Given the description of an element on the screen output the (x, y) to click on. 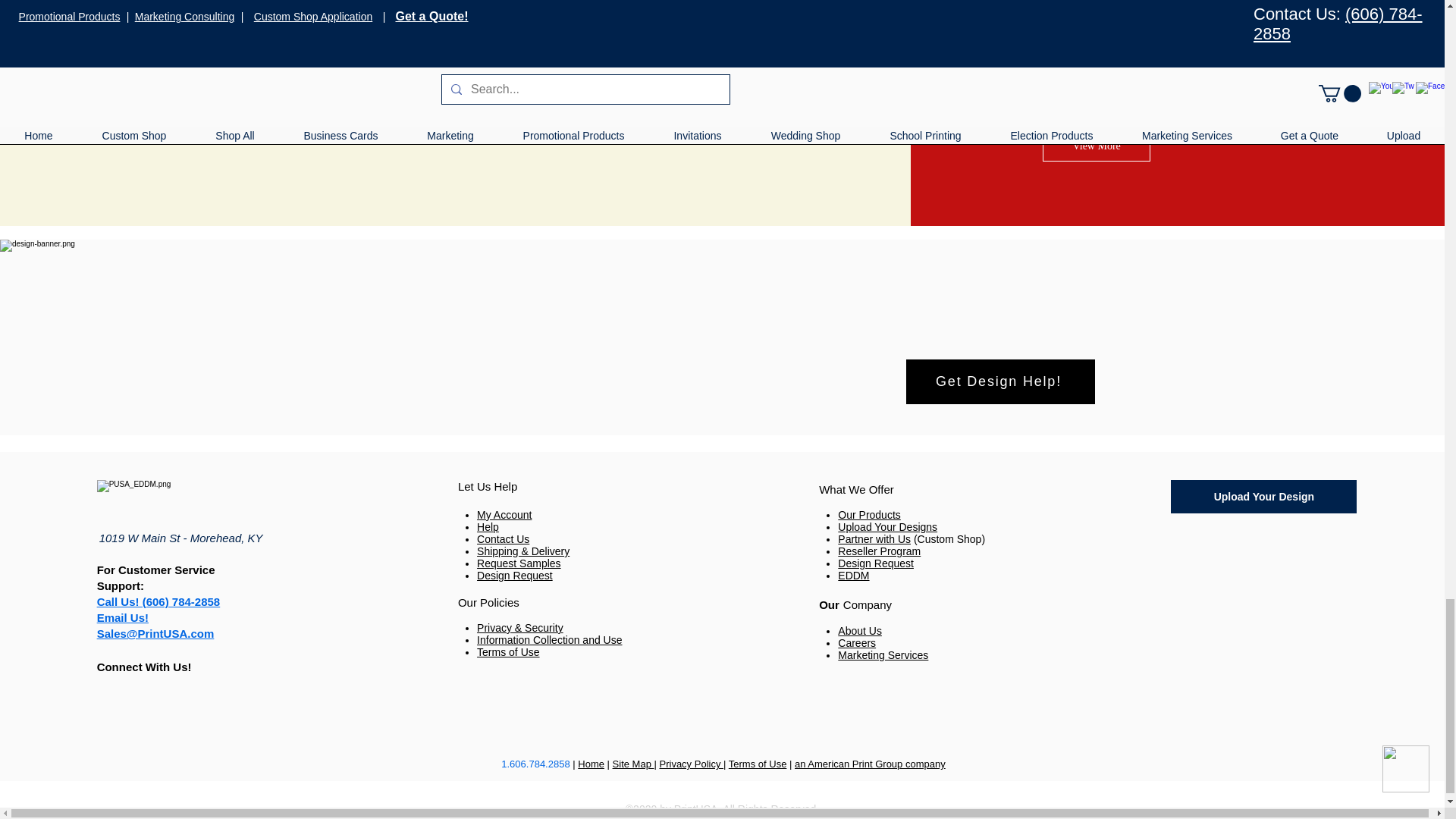
View More (1096, 146)
We have more. (1101, 45)
Get Design Help! (999, 381)
